Given the description of an element on the screen output the (x, y) to click on. 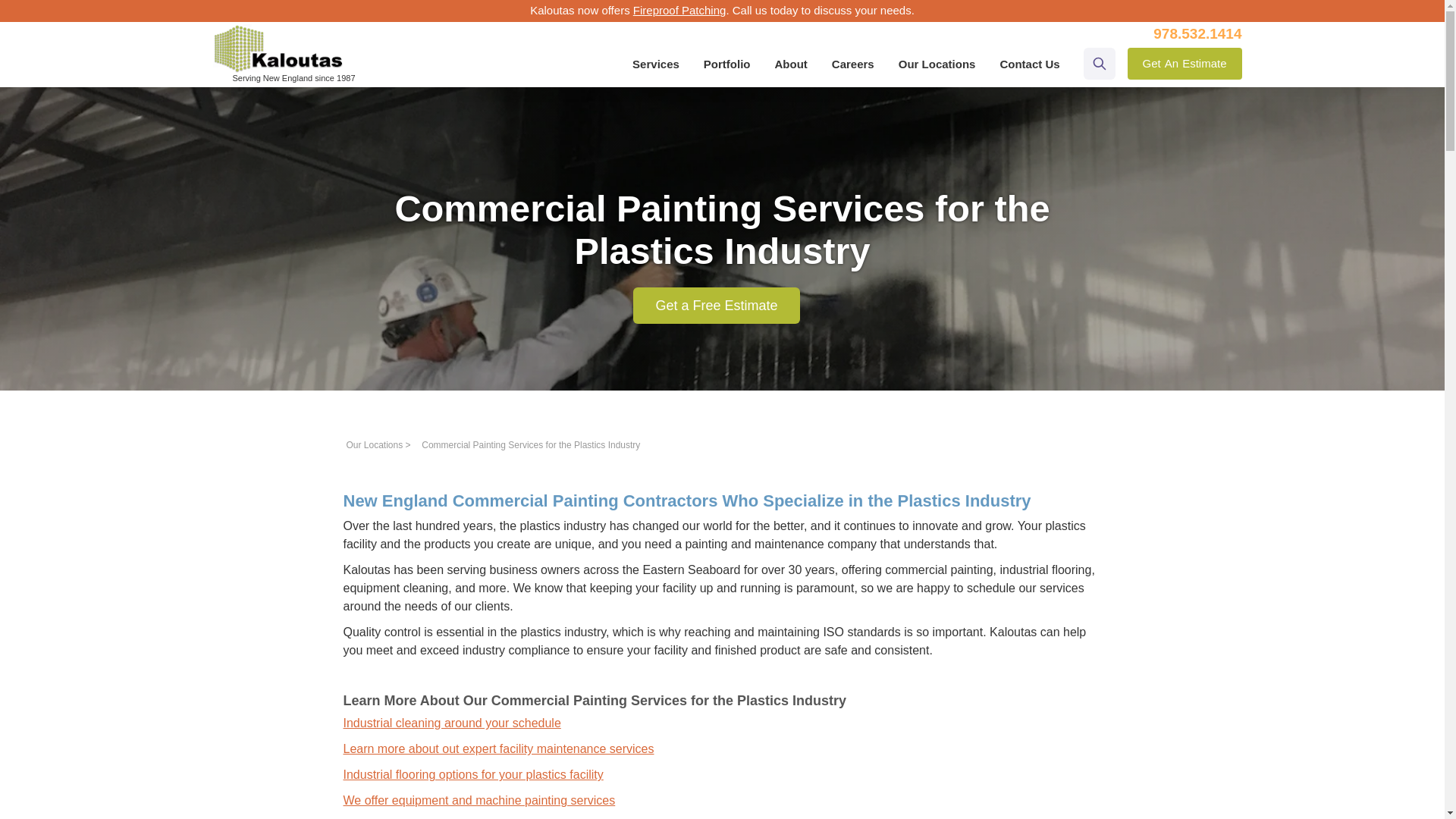
Get a Free Estimate (716, 305)
Careers (852, 64)
Contact Us (1029, 64)
Fireproof Patching (679, 10)
Our Locations (374, 444)
Commercial Painting Services for the Plastics Industry (531, 444)
978.532.1414 (1183, 63)
Serving New England since 1987 (1197, 33)
